Given the description of an element on the screen output the (x, y) to click on. 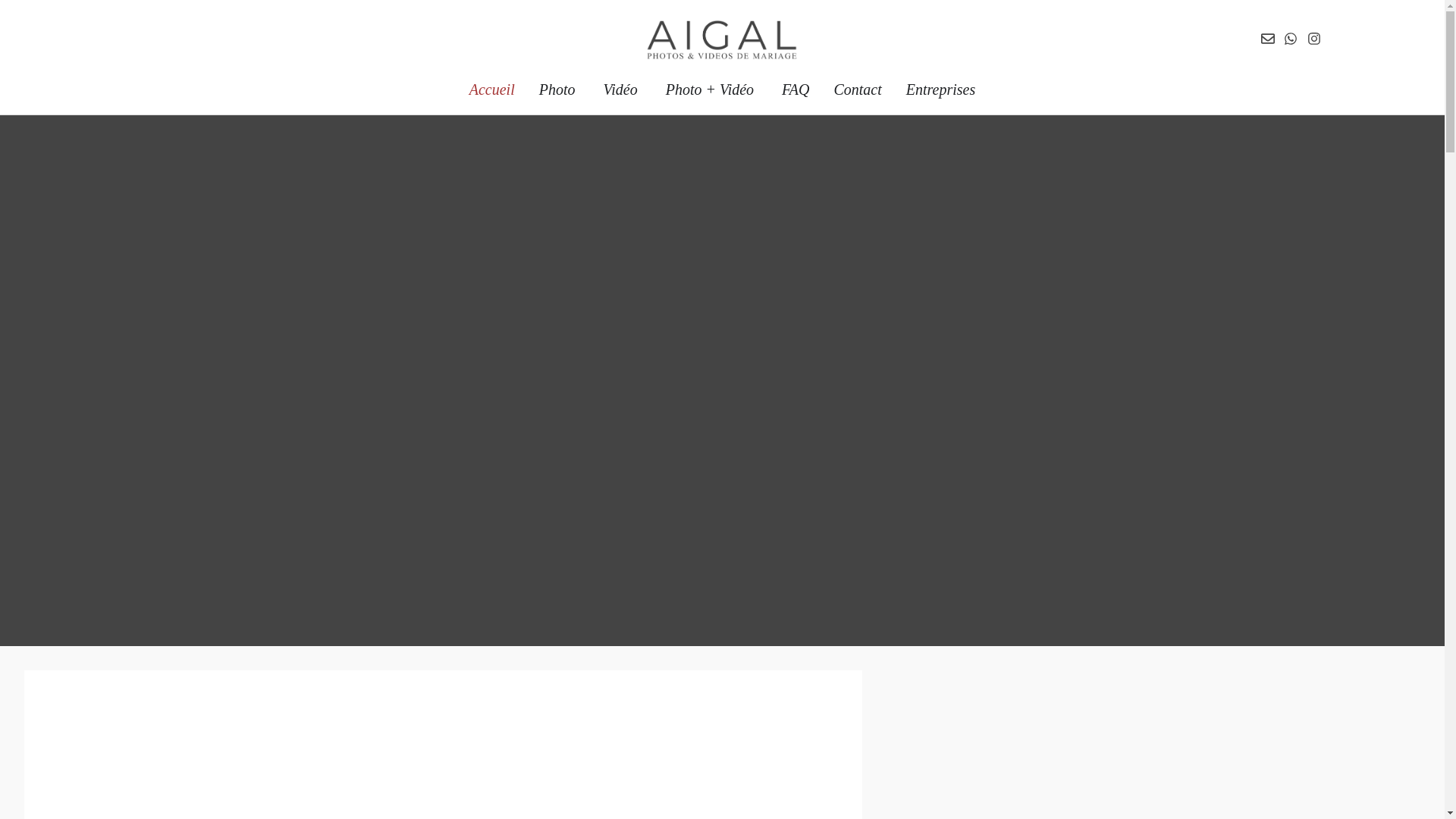
FAQ Element type: text (795, 89)
Contact Element type: text (857, 89)
Entreprises Element type: text (940, 89)
Accueil Element type: text (491, 89)
